Given the description of an element on the screen output the (x, y) to click on. 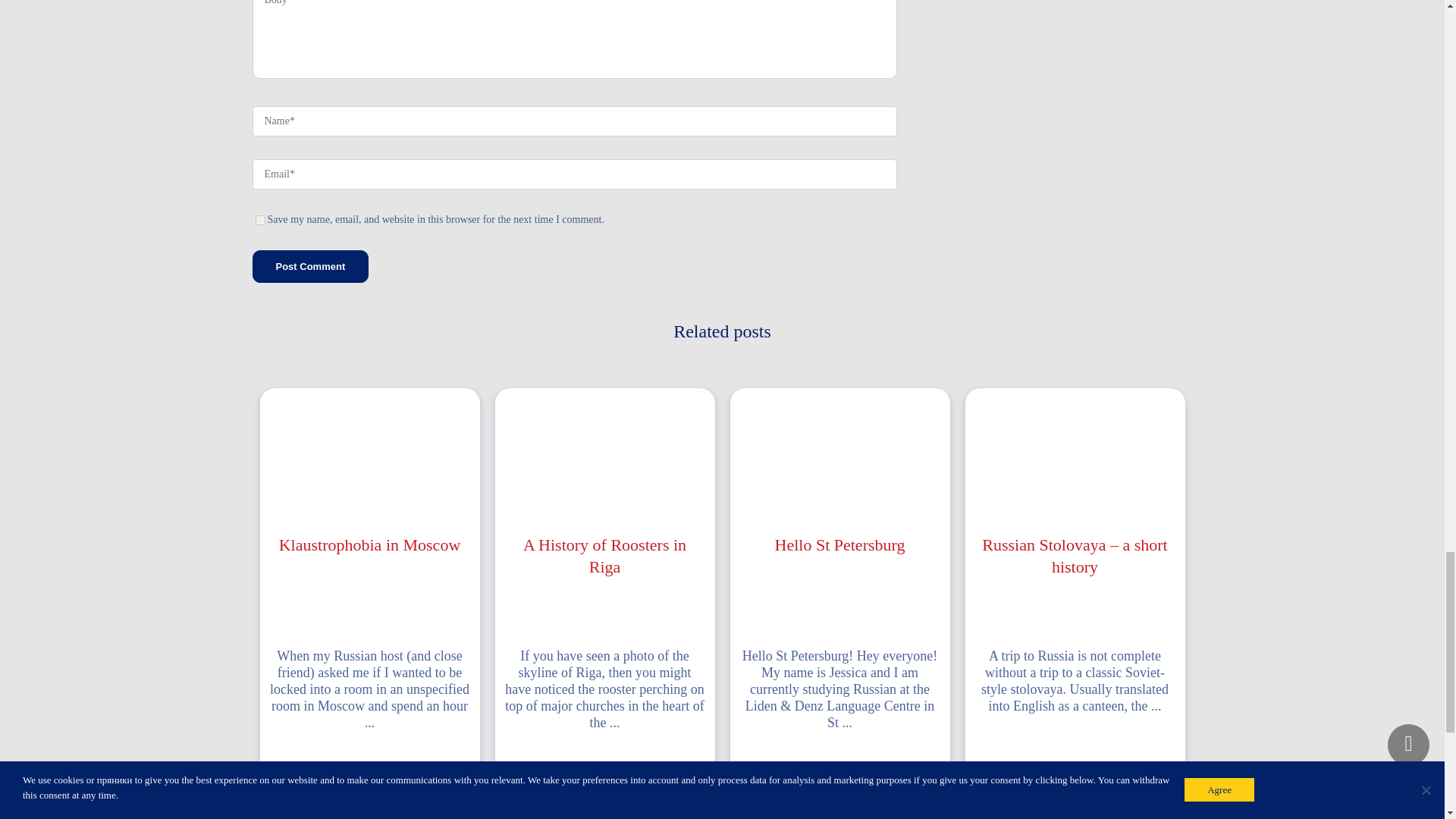
Post Comment (309, 266)
yes (259, 220)
